Given the description of an element on the screen output the (x, y) to click on. 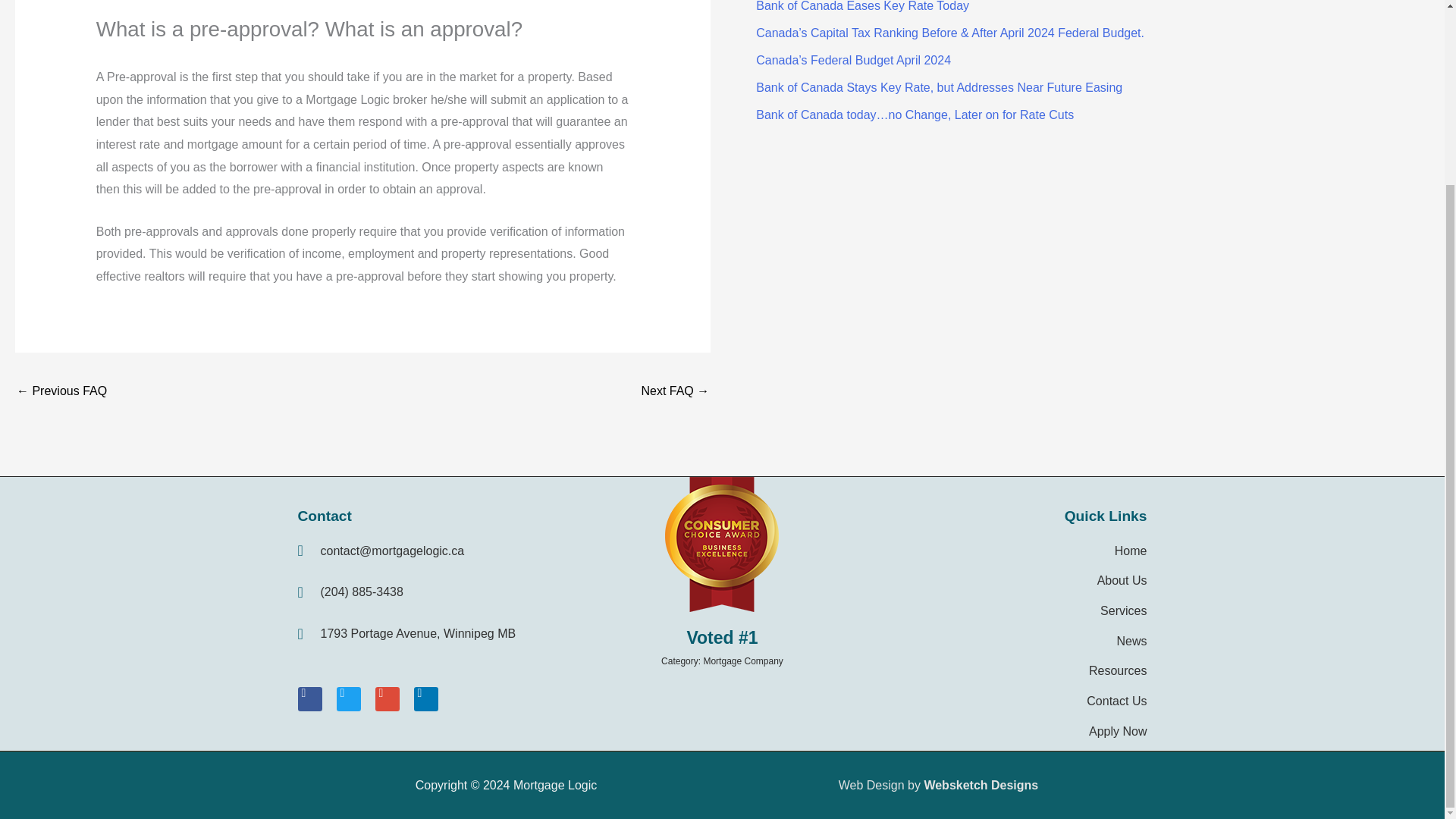
Home inspection? Should I spend money on one? (61, 392)
